Given the description of an element on the screen output the (x, y) to click on. 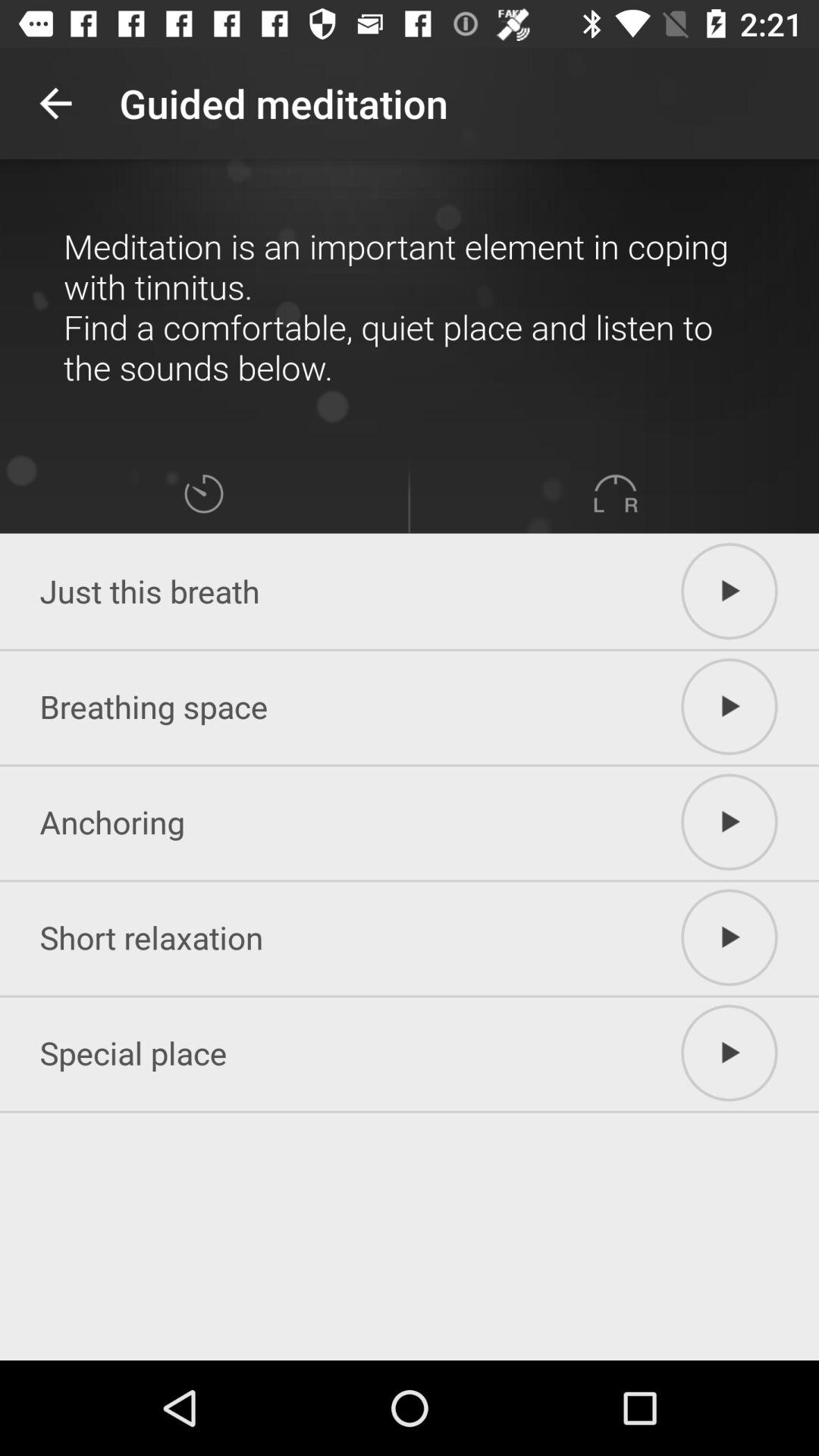
launch the icon above just this breath (203, 493)
